Given the description of an element on the screen output the (x, y) to click on. 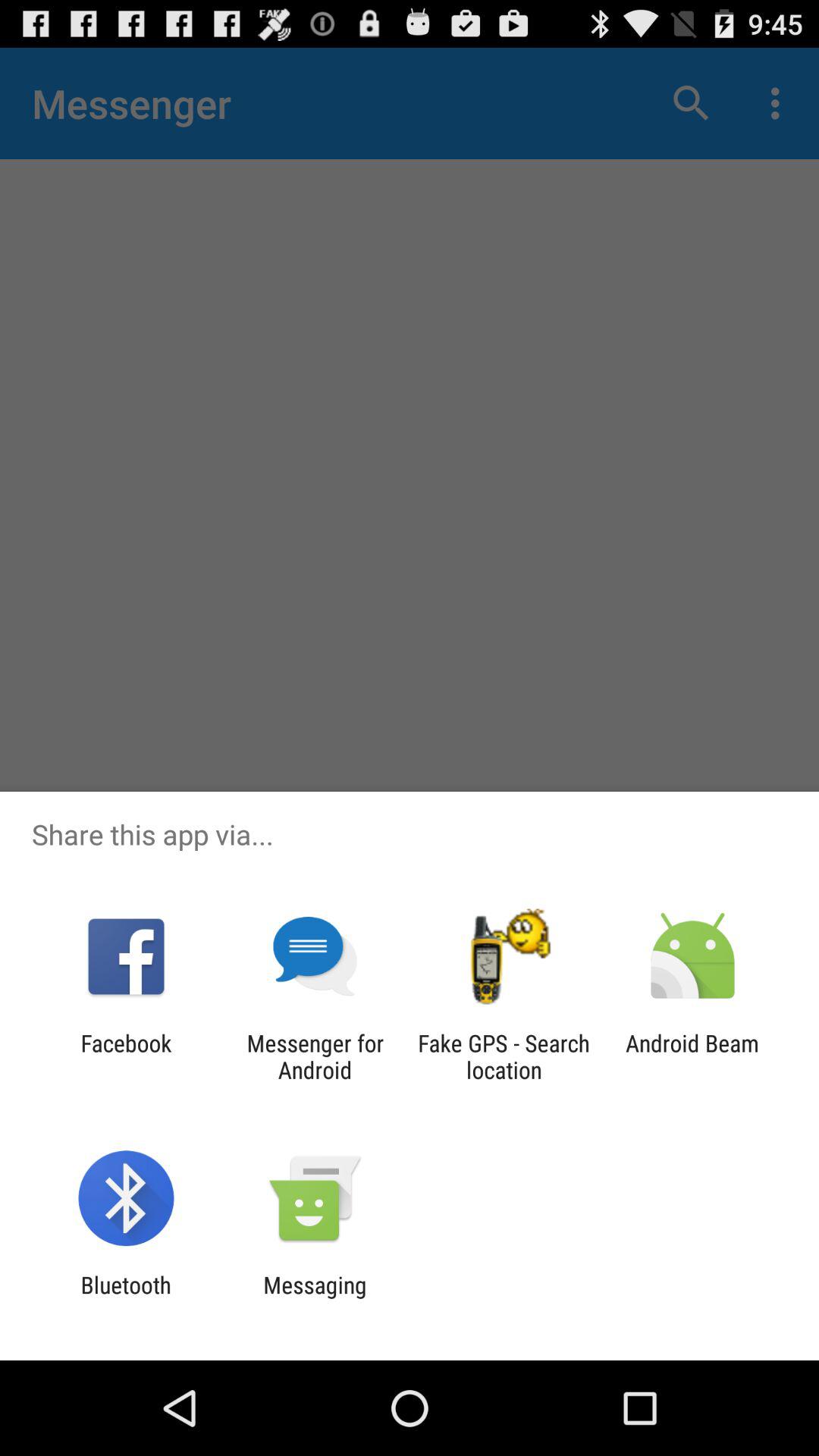
open the item to the left of the android beam (503, 1056)
